Given the description of an element on the screen output the (x, y) to click on. 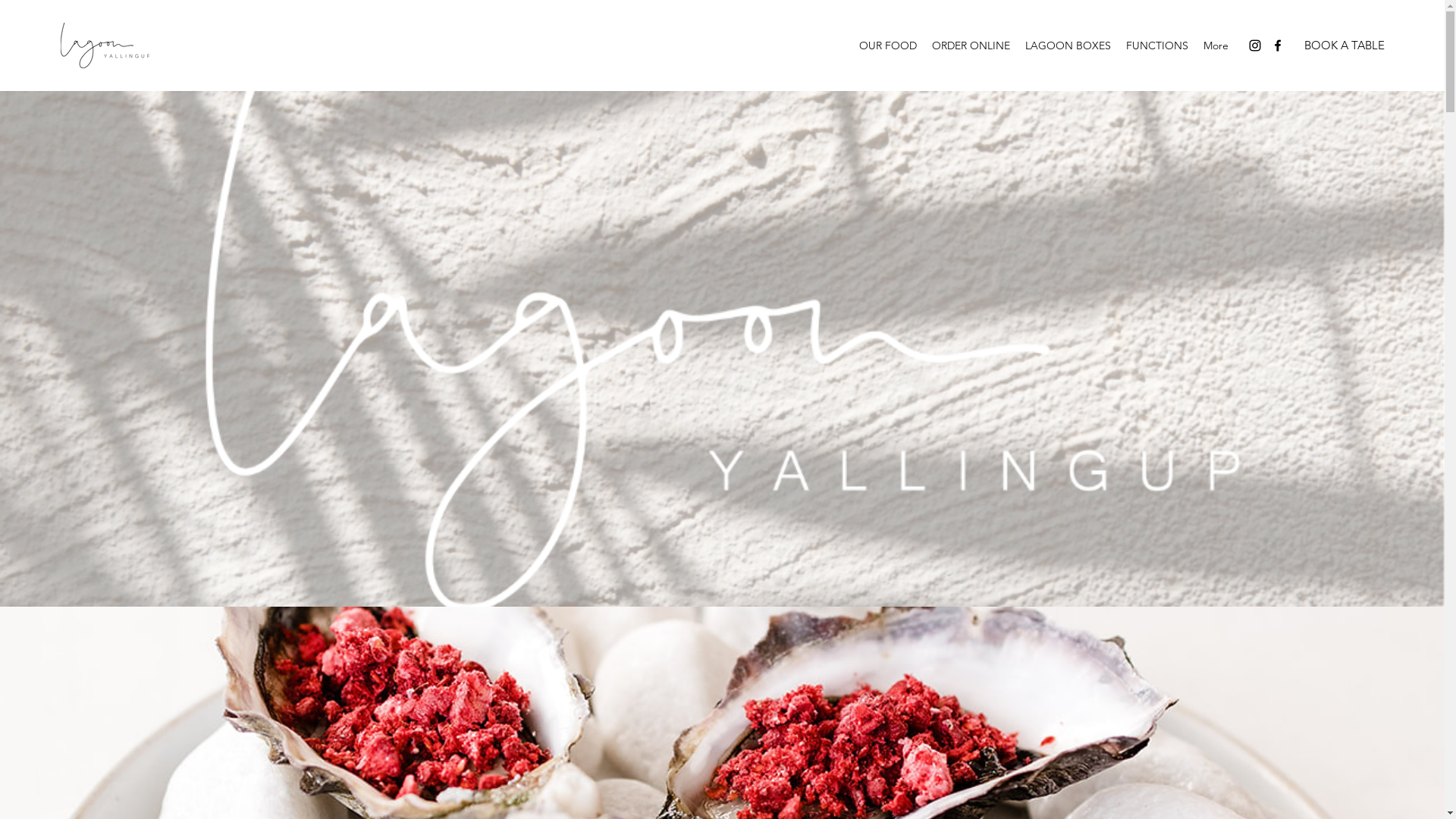
BOOK A TABLE Element type: text (1344, 45)
OUR FOOD Element type: text (887, 45)
ORDER ONLINE Element type: text (970, 45)
FUNCTIONS Element type: text (1156, 45)
LAGOON BOXES Element type: text (1067, 45)
